Given the description of an element on the screen output the (x, y) to click on. 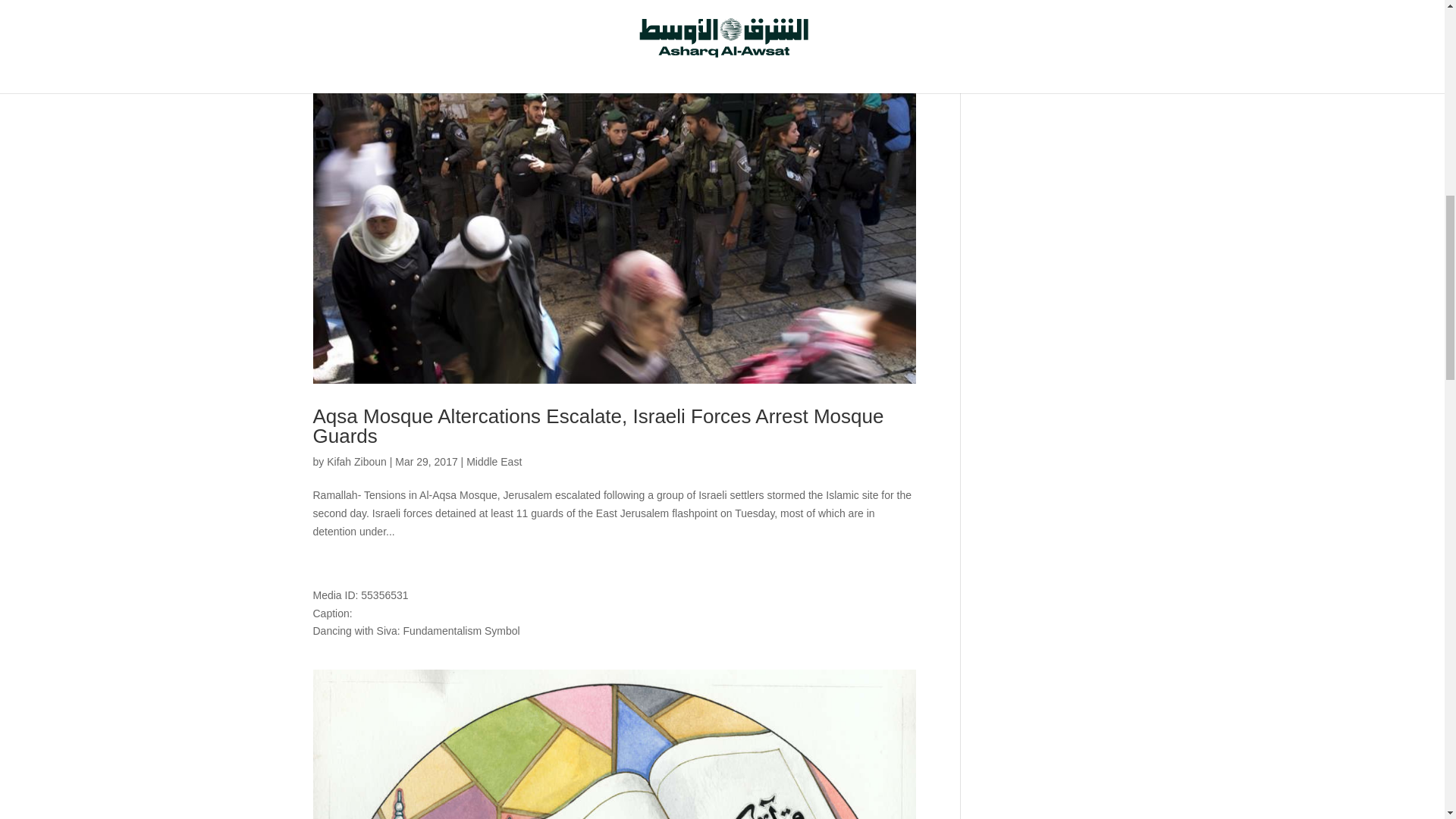
Posts by Kifah Ziboun (356, 461)
Middle East (493, 461)
Kifah Ziboun (356, 461)
